Given the description of an element on the screen output the (x, y) to click on. 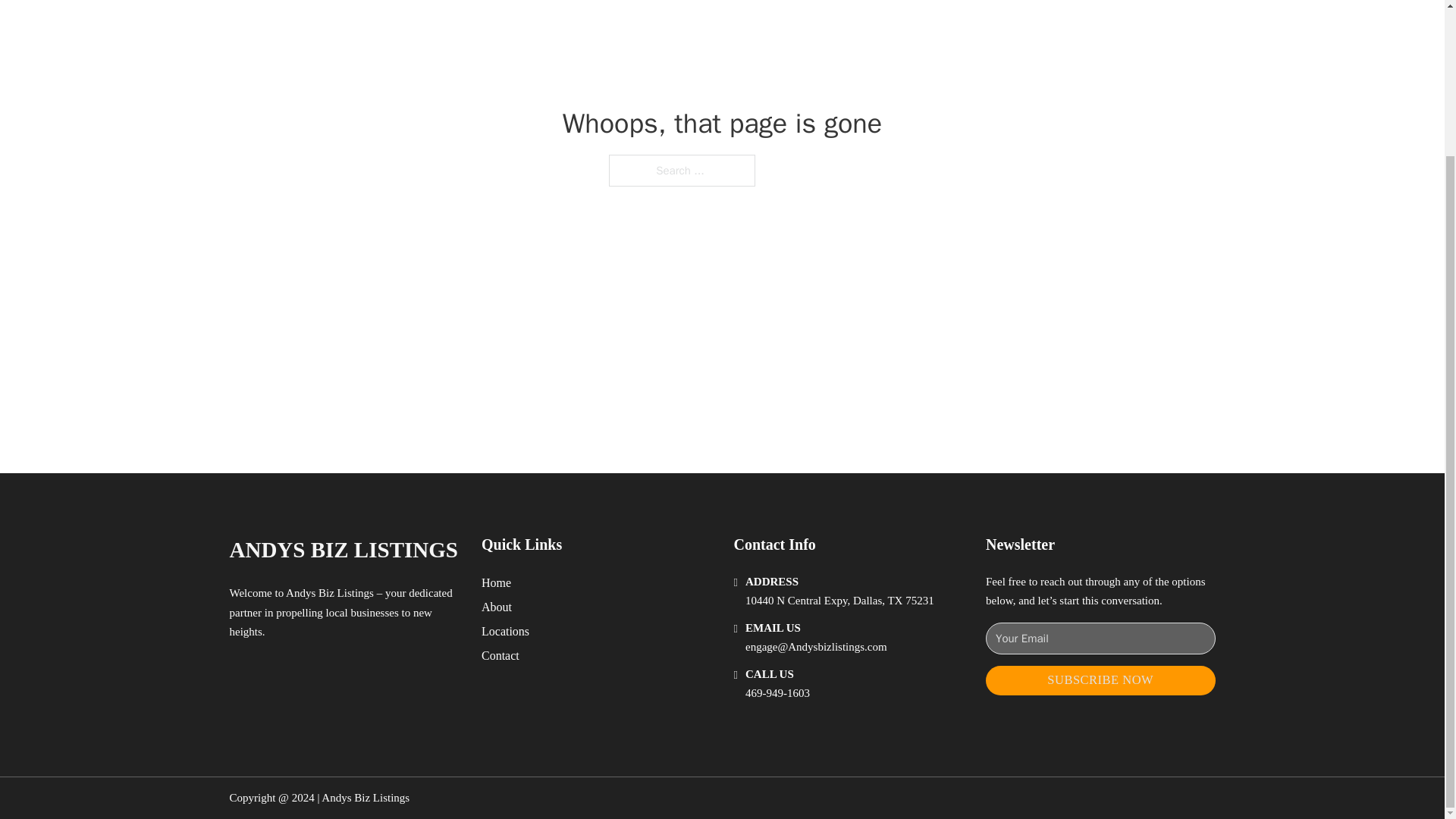
Locations (505, 630)
Home (496, 582)
About (496, 607)
469-949-1603 (777, 693)
SUBSCRIBE NOW (1100, 680)
Contact (500, 655)
ANDYS BIZ LISTINGS (342, 549)
